Given the description of an element on the screen output the (x, y) to click on. 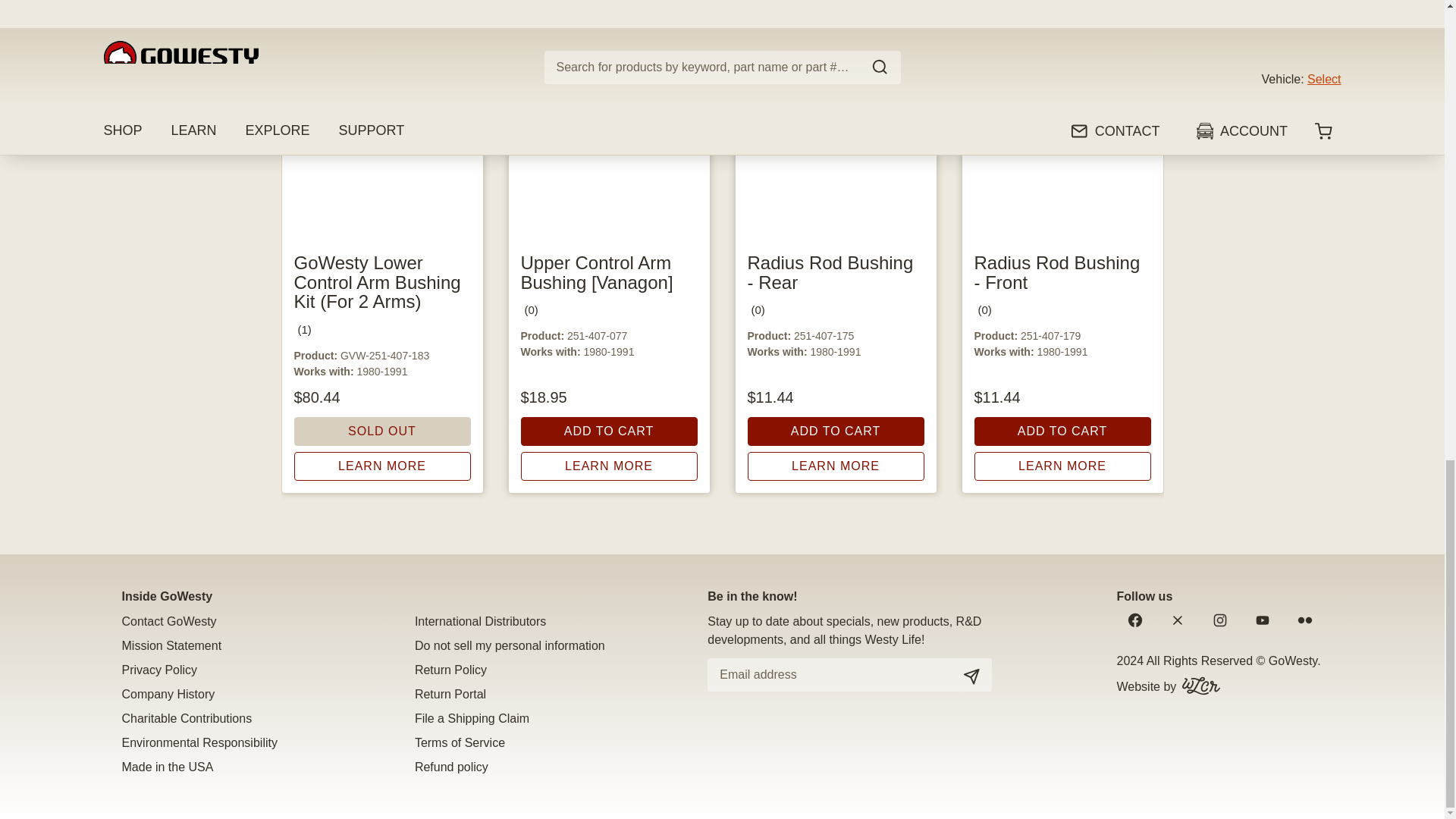
GoWesty on YouTube (1261, 618)
GoWesty on Facebook (1134, 618)
GoWesty on Flickr (1303, 618)
GoWesty on Twitter (1176, 618)
GoWesty on Instagram (1219, 618)
